Given the description of an element on the screen output the (x, y) to click on. 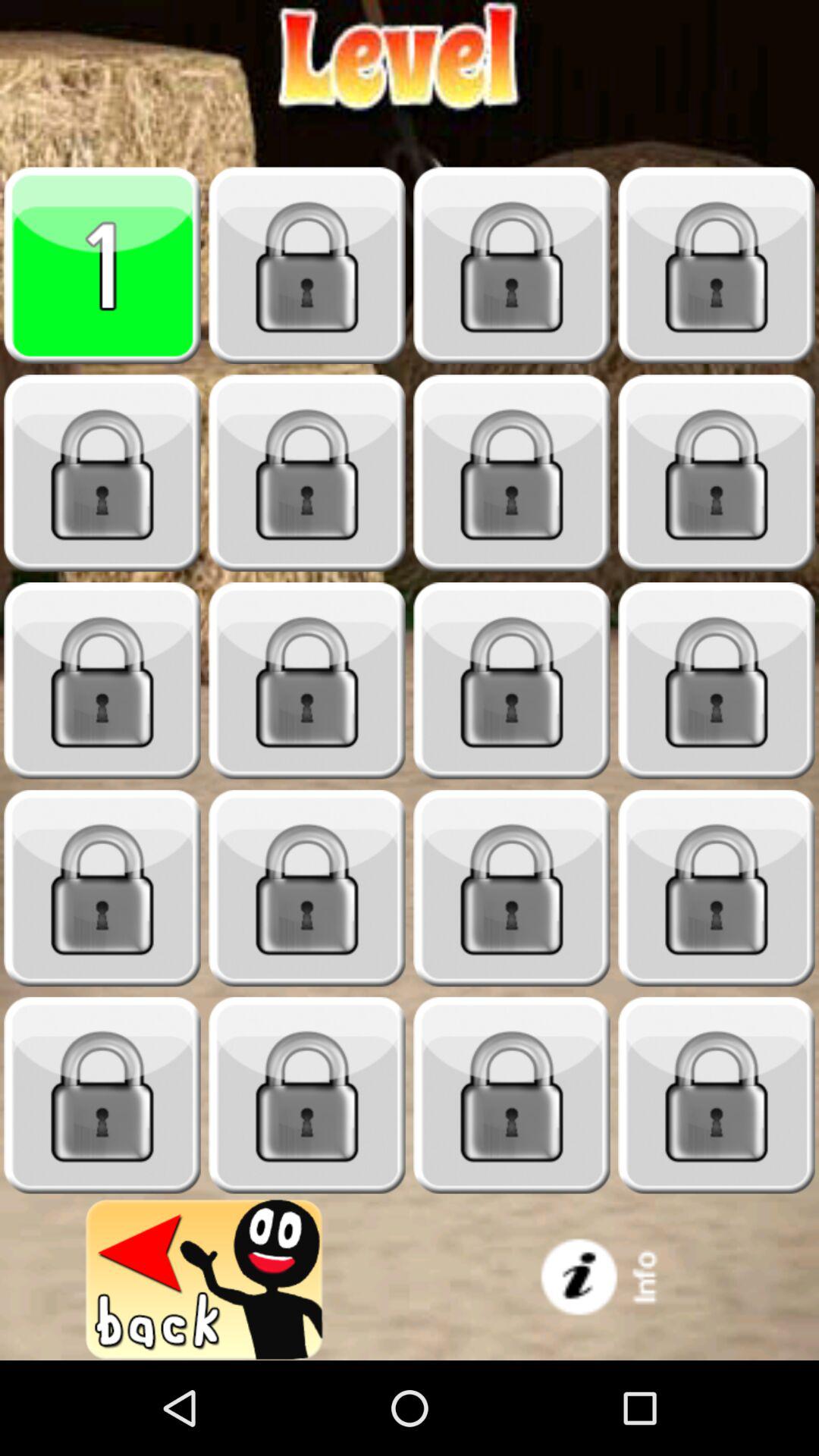
locked level (102, 887)
